Given the description of an element on the screen output the (x, y) to click on. 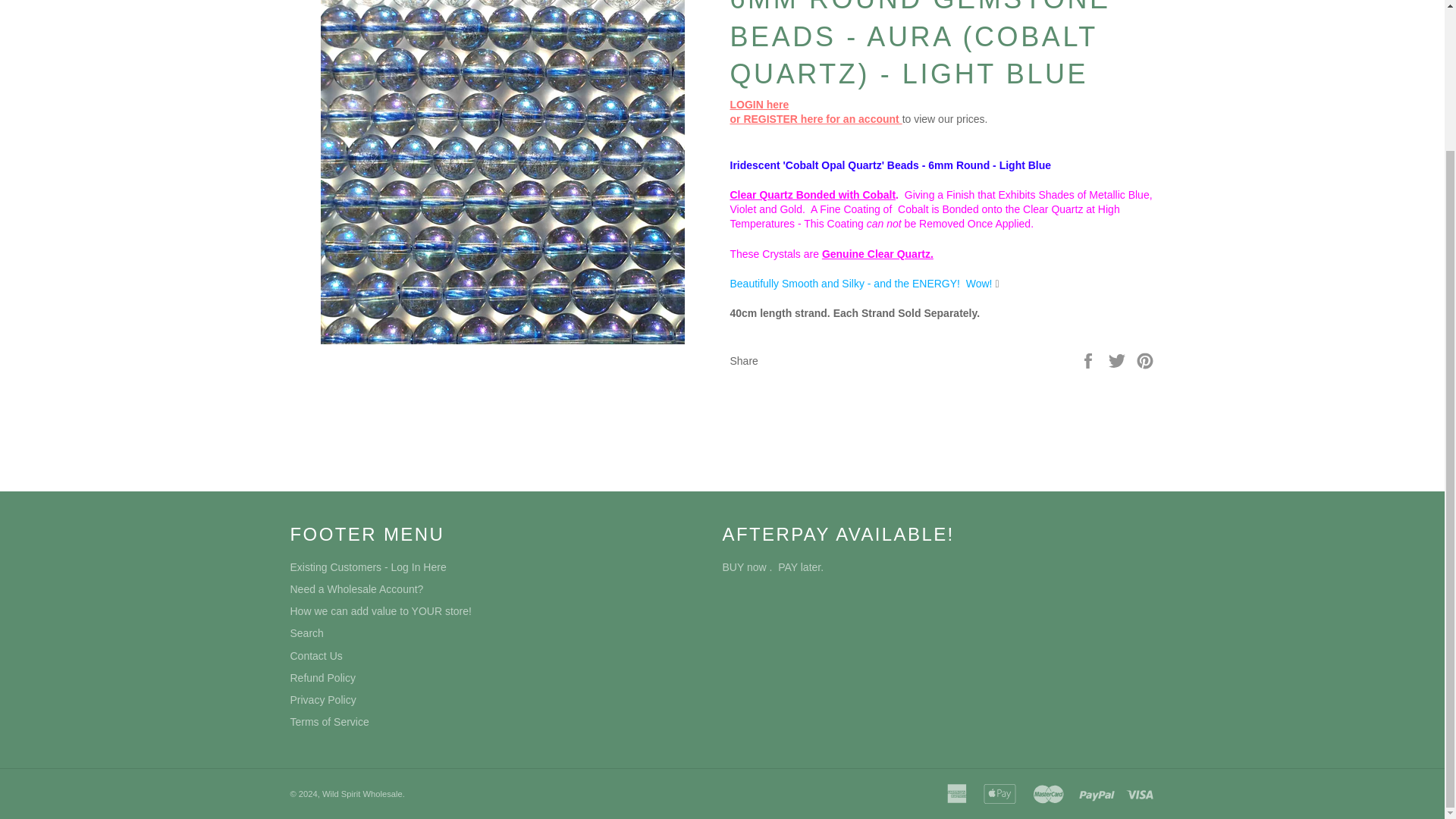
Share on Facebook (1089, 359)
Tweet on Twitter (1118, 359)
Pin on Pinterest (1144, 359)
